Given the description of an element on the screen output the (x, y) to click on. 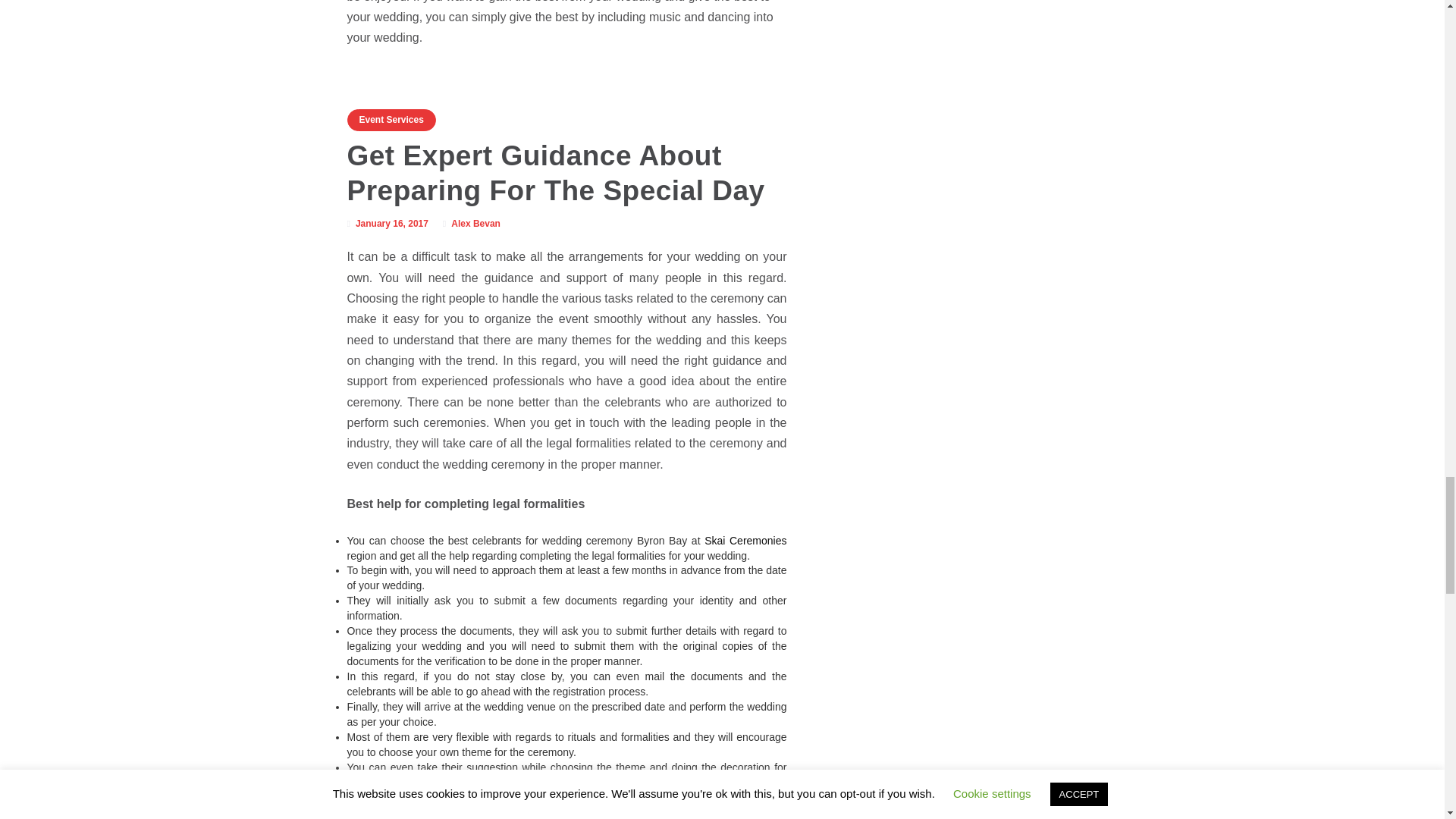
Get Expert Guidance About Preparing For The Special Day (556, 173)
Event Services (391, 119)
Skai Ceremonies (745, 540)
